Given the description of an element on the screen output the (x, y) to click on. 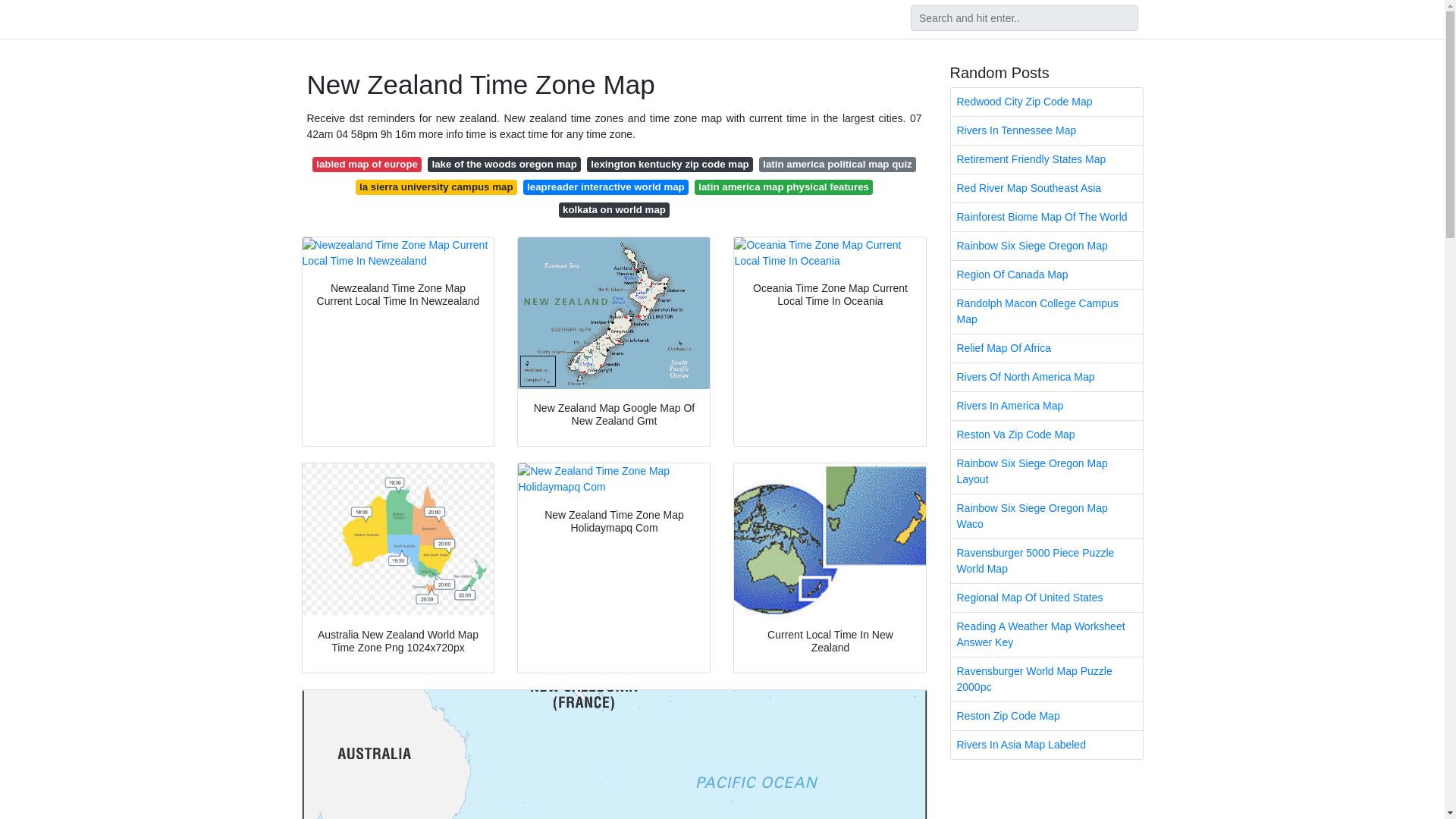
leapreader interactive world map (605, 186)
Red River Map Southeast Asia (1046, 188)
Redwood City Zip Code Map (1046, 101)
Rivers In Tennessee Map (1046, 130)
Region Of Canada Map (1046, 275)
Randolph Macon College Campus Map (1046, 311)
Relief Map Of Africa (1046, 348)
latin america map physical features (783, 186)
la sierra university campus map (435, 186)
latin america political map quiz (836, 164)
Rainforest Biome Map Of The World (1046, 216)
kolkata on world map (614, 209)
Rainbow Six Siege Oregon Map (1046, 245)
lake of the woods oregon map (504, 164)
Retirement Friendly States Map (1046, 159)
